Given the description of an element on the screen output the (x, y) to click on. 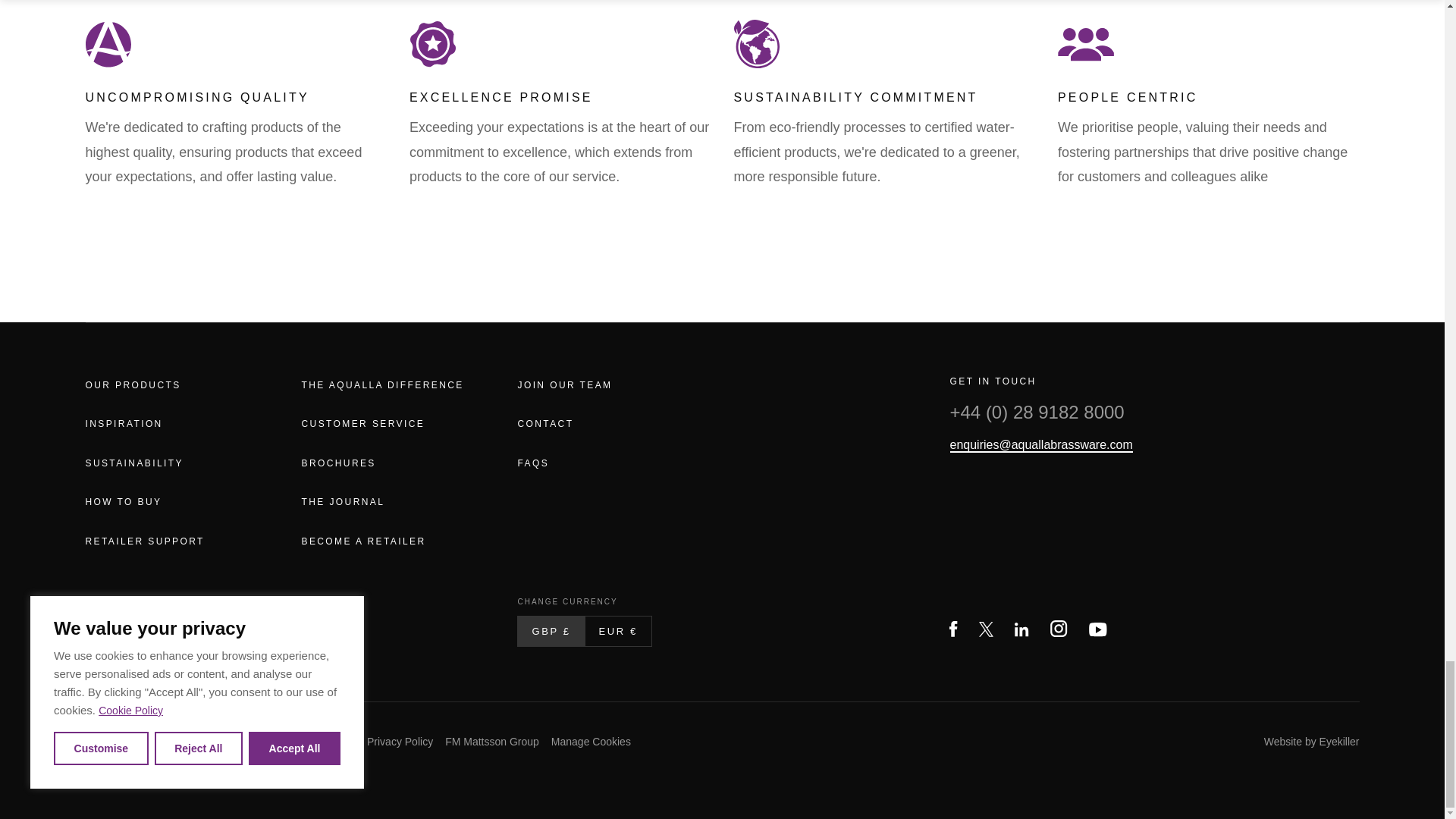
YouTubeYouTube Logo (1097, 629)
Linked InLinked In Logo (1021, 629)
XX Logo (985, 629)
InstagramInstagram Logo (1058, 628)
